Given the description of an element on the screen output the (x, y) to click on. 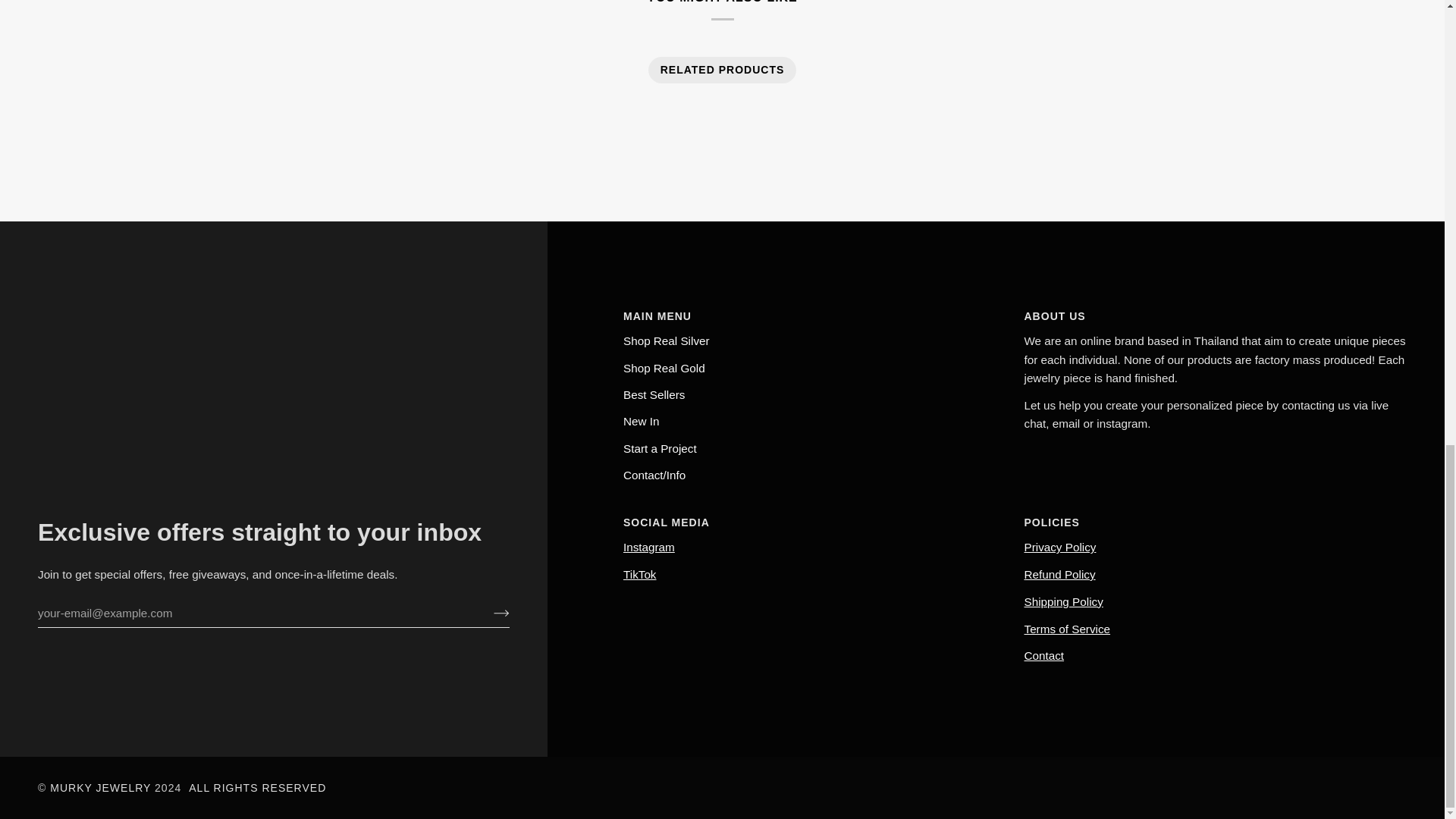
Terms of Service (1066, 628)
Privacy Policy (1059, 546)
RELATED PRODUCTS (722, 69)
Shipping Policy (1062, 601)
Refund Policy (1058, 574)
Contact Information (1043, 655)
